Given the description of an element on the screen output the (x, y) to click on. 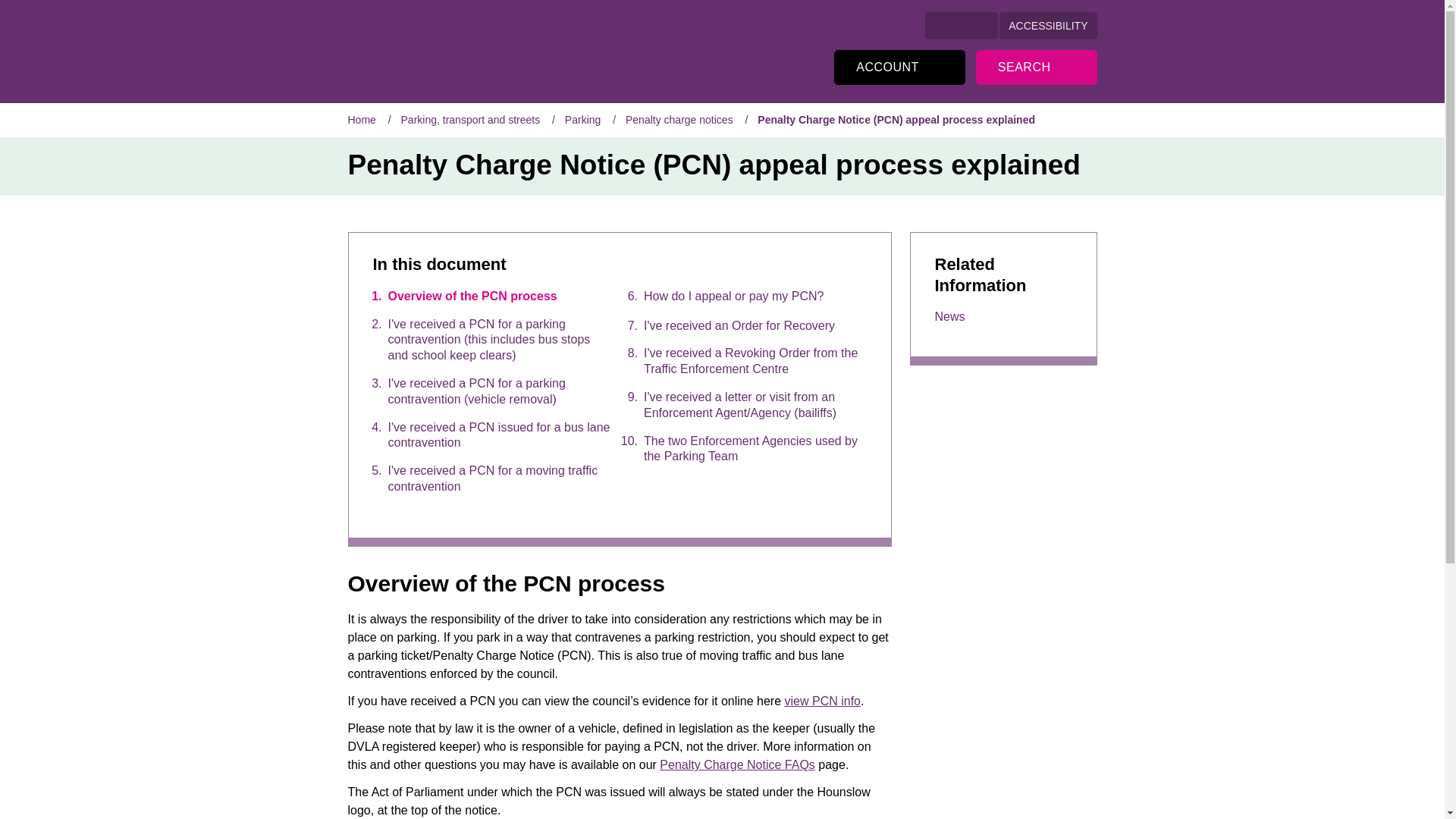
I've received a PCN for a moving traffic contravention (484, 479)
News (948, 317)
Home (361, 119)
Parking (581, 119)
view PCN info (822, 700)
Parking, transport and streets (470, 119)
Click to return to the homepage (465, 48)
I've received a PCN issued for a bus lane contravention (484, 436)
ACCESSIBILITY (1047, 25)
Penalty charge notices (899, 67)
How do I appeal or pay my PCN? (679, 119)
Sign in to your London Borough of Hounslow account (739, 296)
London Borough of Hounslow (899, 67)
SEARCH (465, 48)
